Given the description of an element on the screen output the (x, y) to click on. 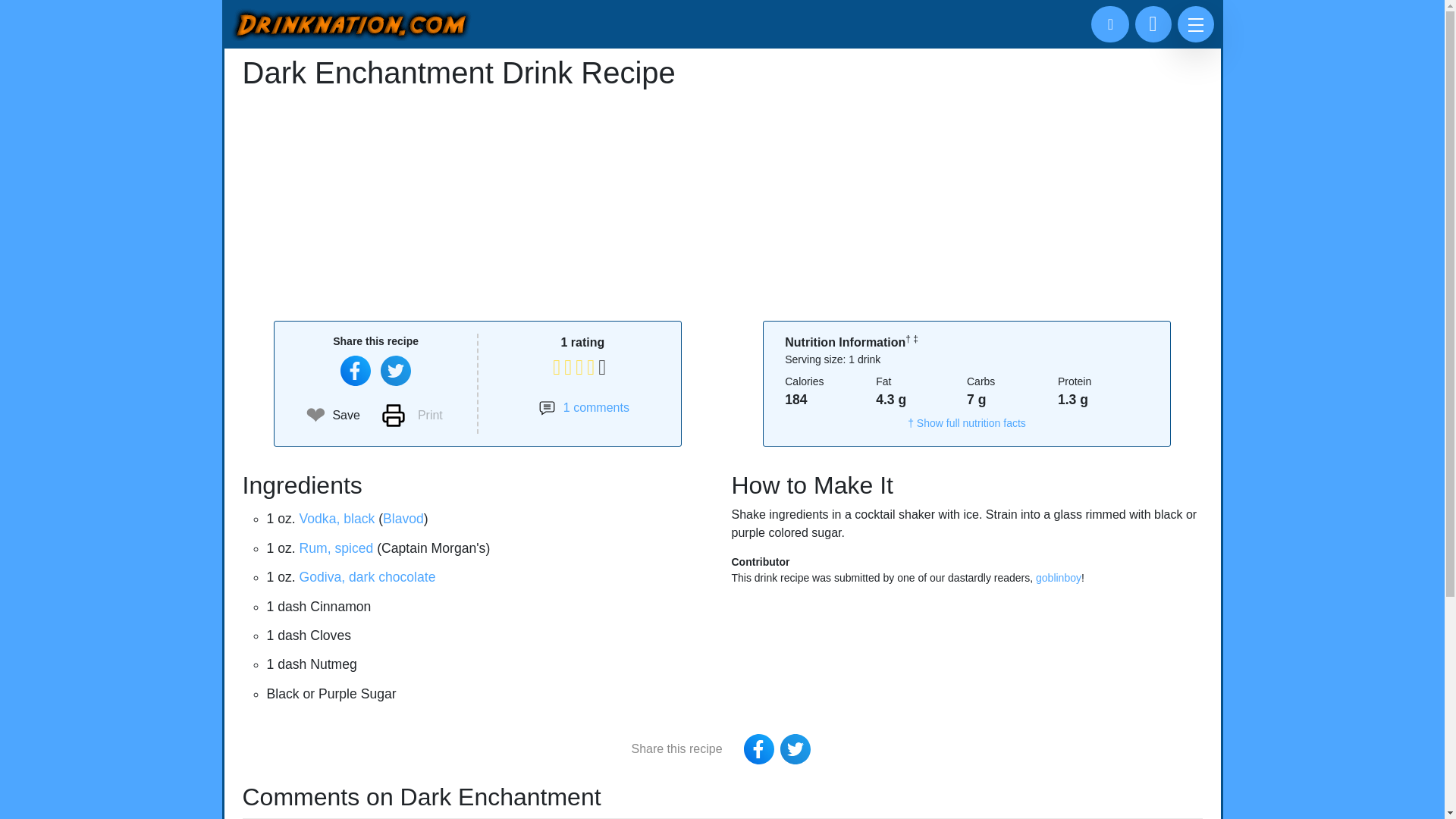
Vodka, black (337, 518)
Blavod (402, 518)
Godiva, dark chocolate (367, 576)
4 stars (582, 341)
Rum, spiced (336, 548)
Print (411, 415)
goblinboy (1058, 577)
1 comments (583, 407)
